Given the description of an element on the screen output the (x, y) to click on. 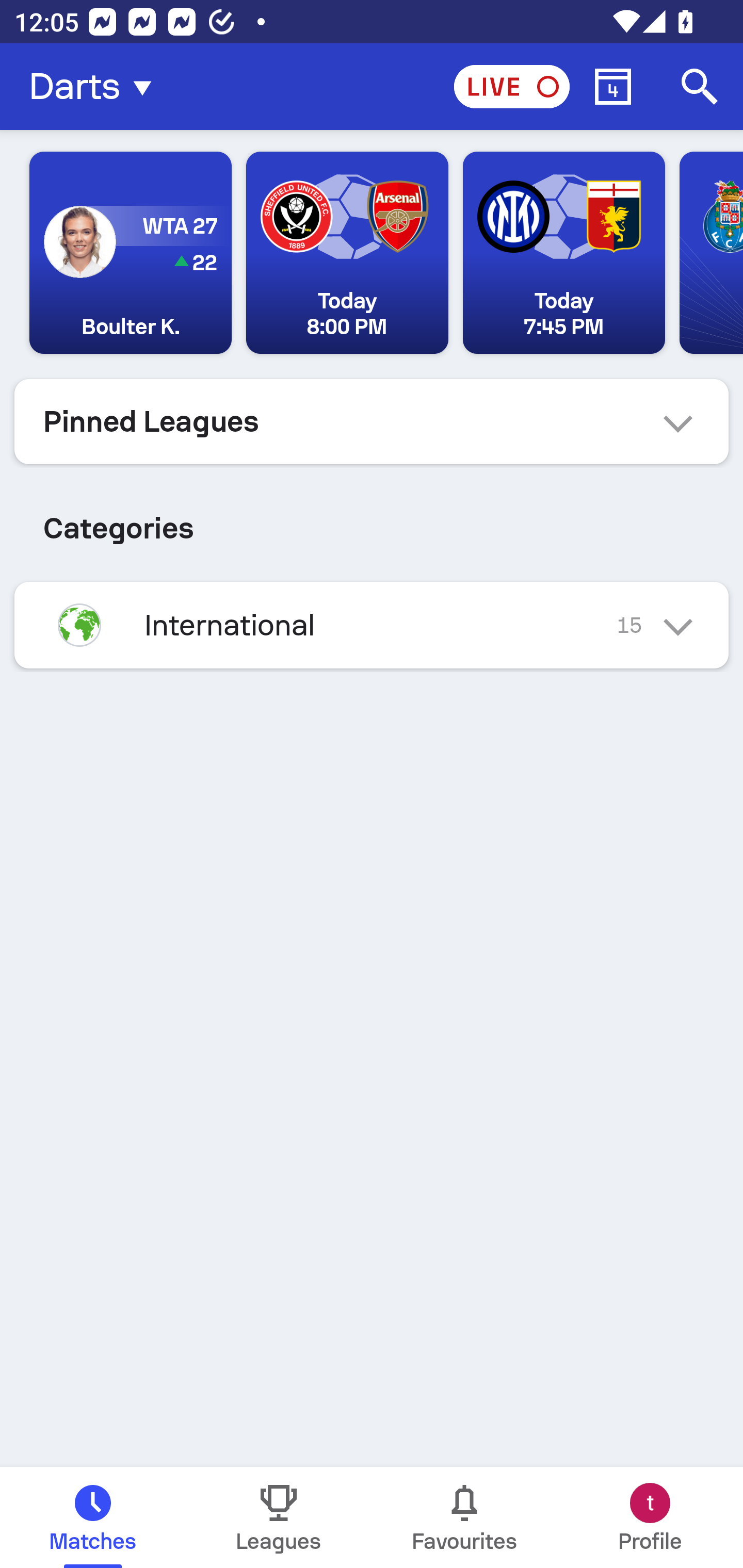
Darts (96, 86)
Calendar (612, 86)
Search (699, 86)
WTA 27 22 Boulter K. (130, 253)
Today
8:00 PM (346, 253)
Today
7:45 PM (563, 253)
Pinned Leagues (371, 421)
Categories (371, 520)
International 15 (371, 624)
Leagues (278, 1517)
Favourites (464, 1517)
Profile (650, 1517)
